Given the description of an element on the screen output the (x, y) to click on. 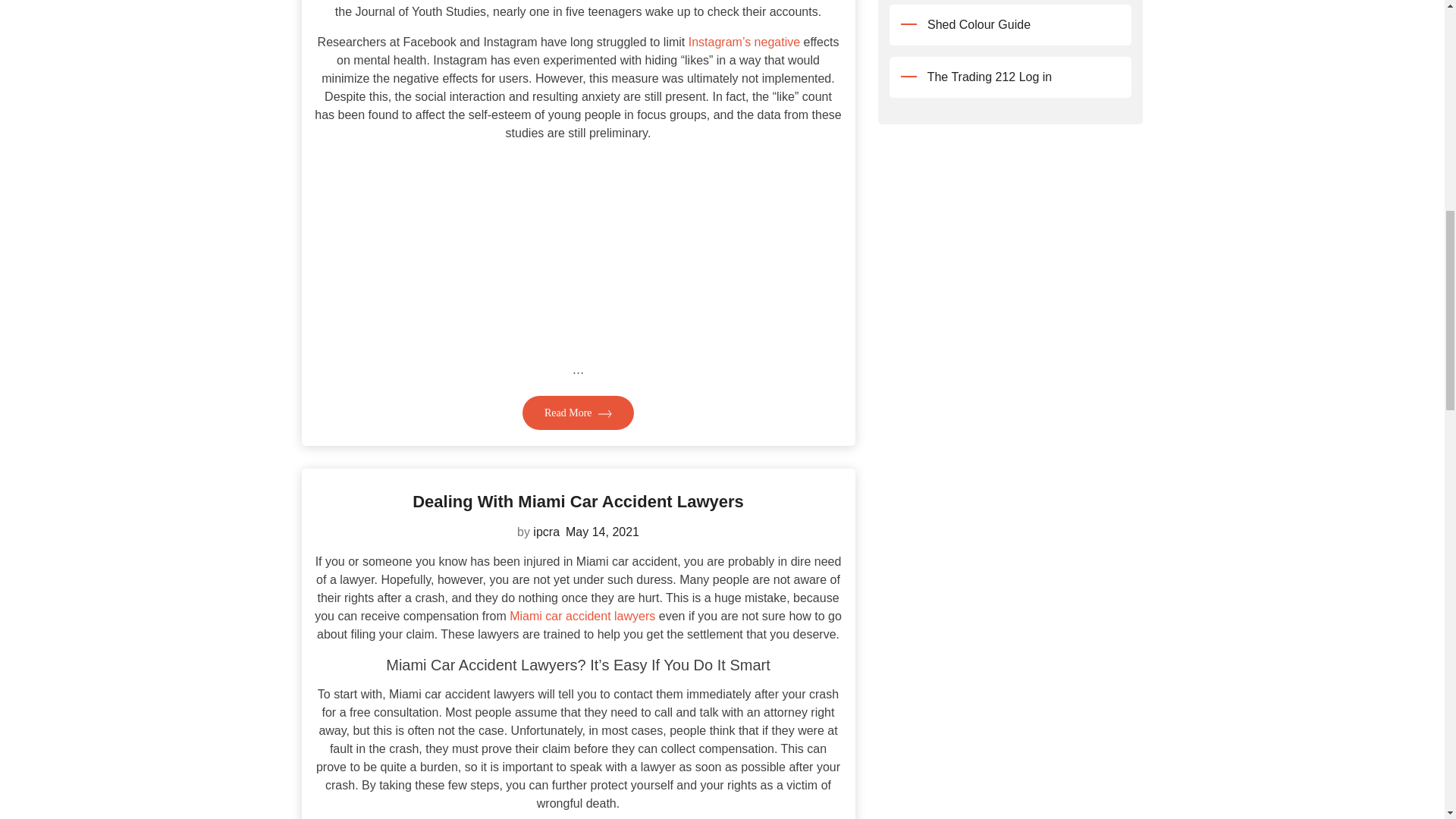
ipcra (545, 531)
Read More (577, 412)
Miami car accident lawyers (582, 615)
Dealing With Miami Car Accident Lawyers (578, 501)
May 14, 2021 (602, 531)
